Given the description of an element on the screen output the (x, y) to click on. 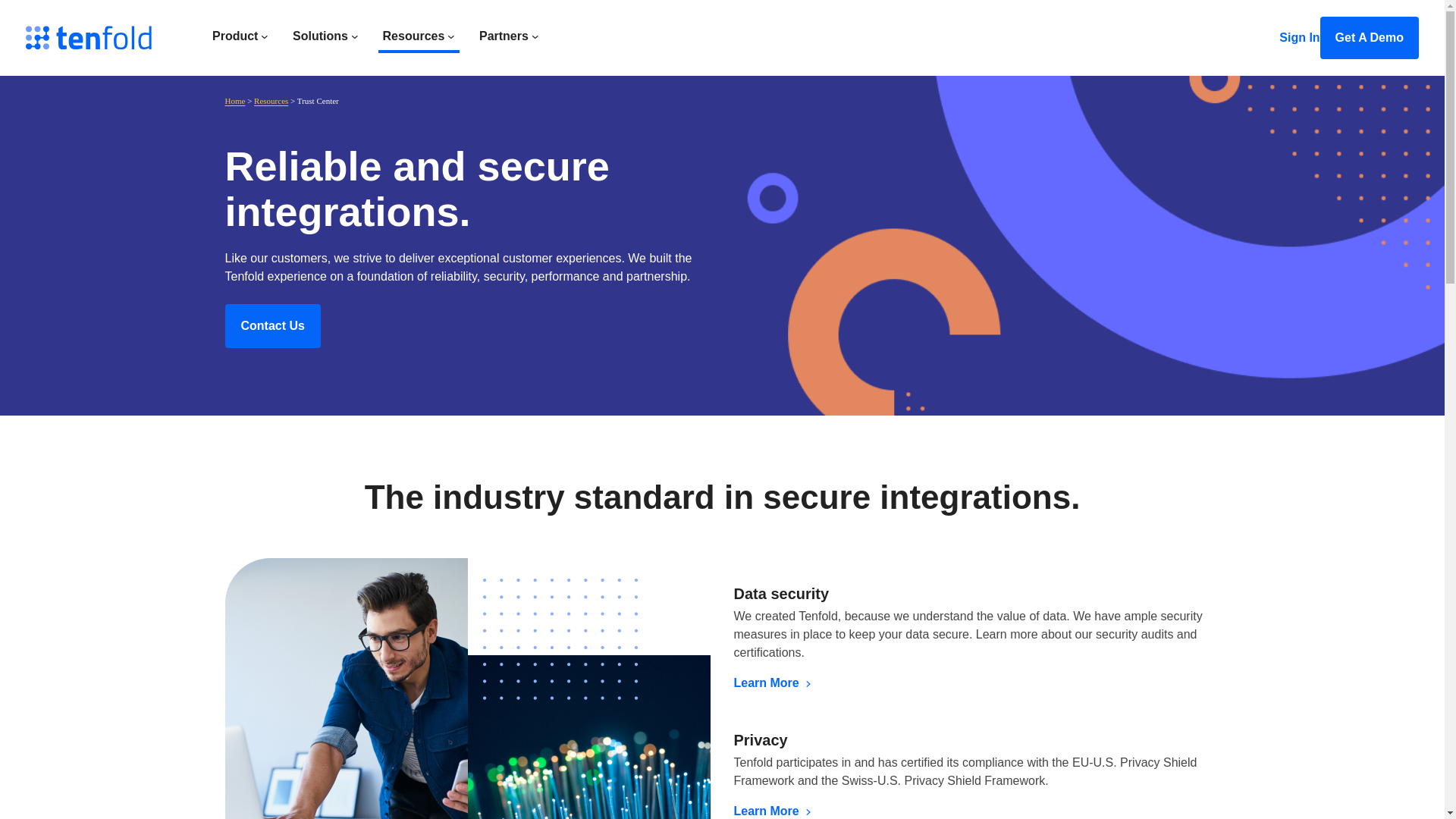
Resources (413, 35)
Solutions (319, 35)
Product (234, 35)
